Given the description of an element on the screen output the (x, y) to click on. 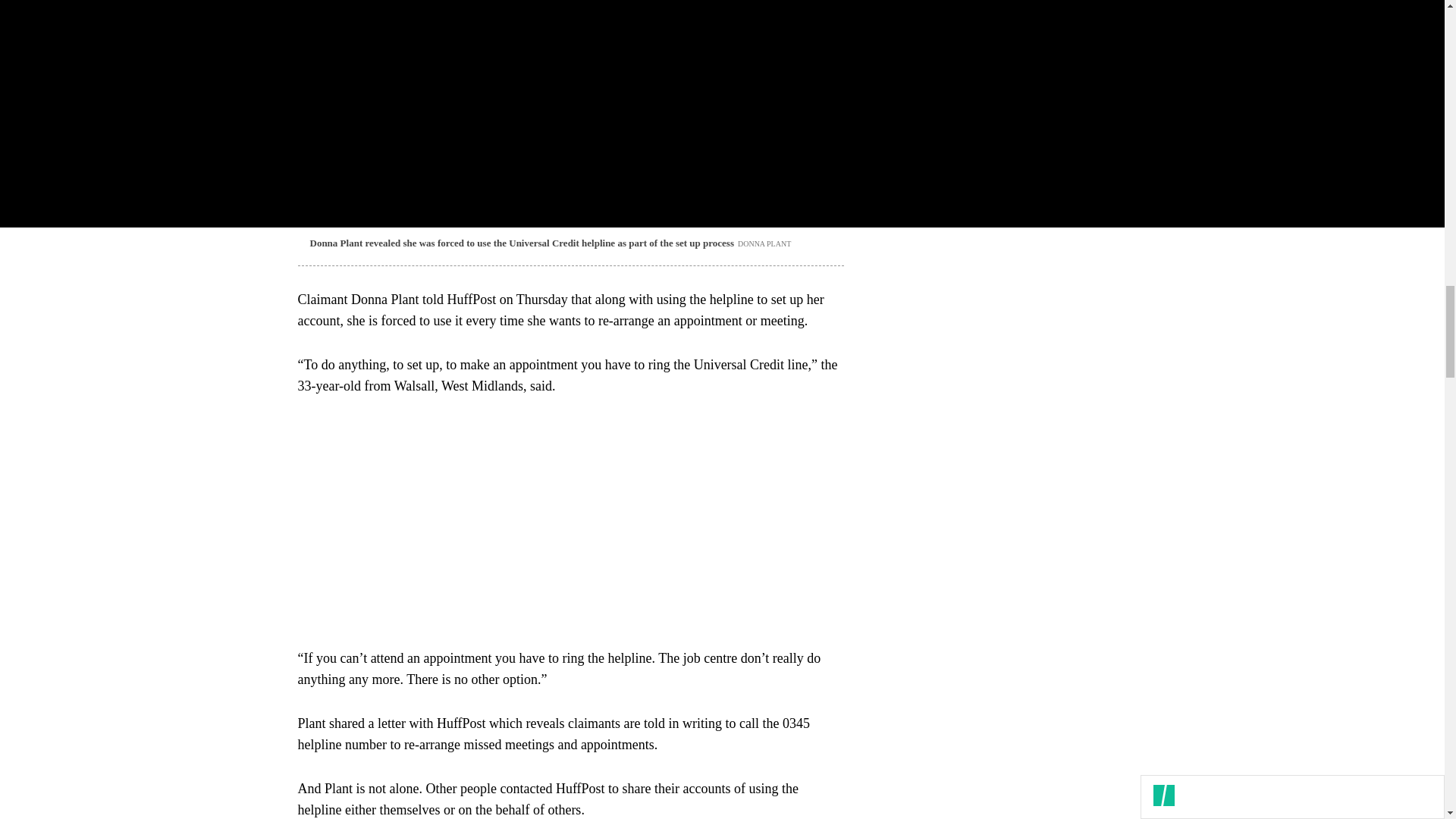
SIGN UP (1098, 86)
